Given the description of an element on the screen output the (x, y) to click on. 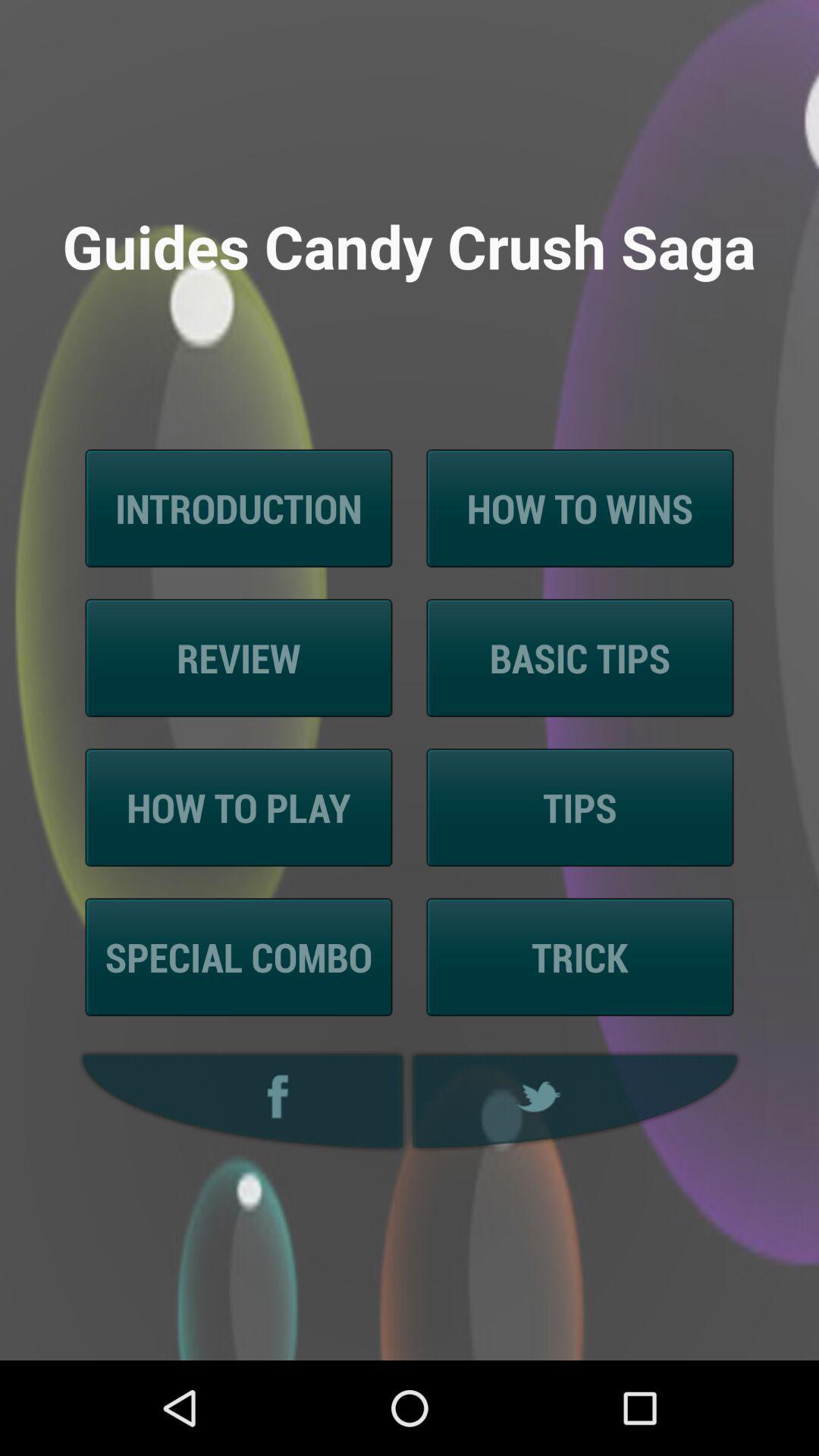
launch icon to the left of the how to wins item (238, 508)
